Given the description of an element on the screen output the (x, y) to click on. 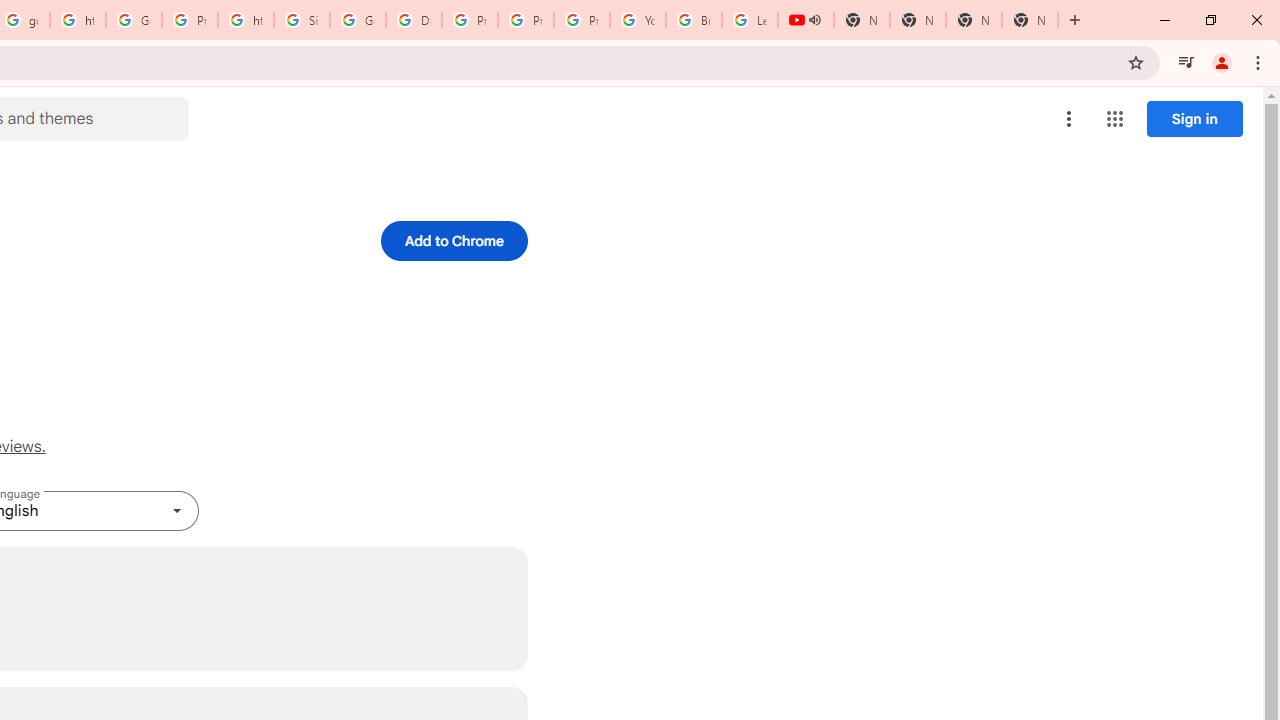
New Tab (1030, 20)
Add to Chrome (453, 240)
https://scholar.google.com/ (77, 20)
Privacy Help Center - Policies Help (469, 20)
YouTube (637, 20)
Mute tab (814, 20)
